Given the description of an element on the screen output the (x, y) to click on. 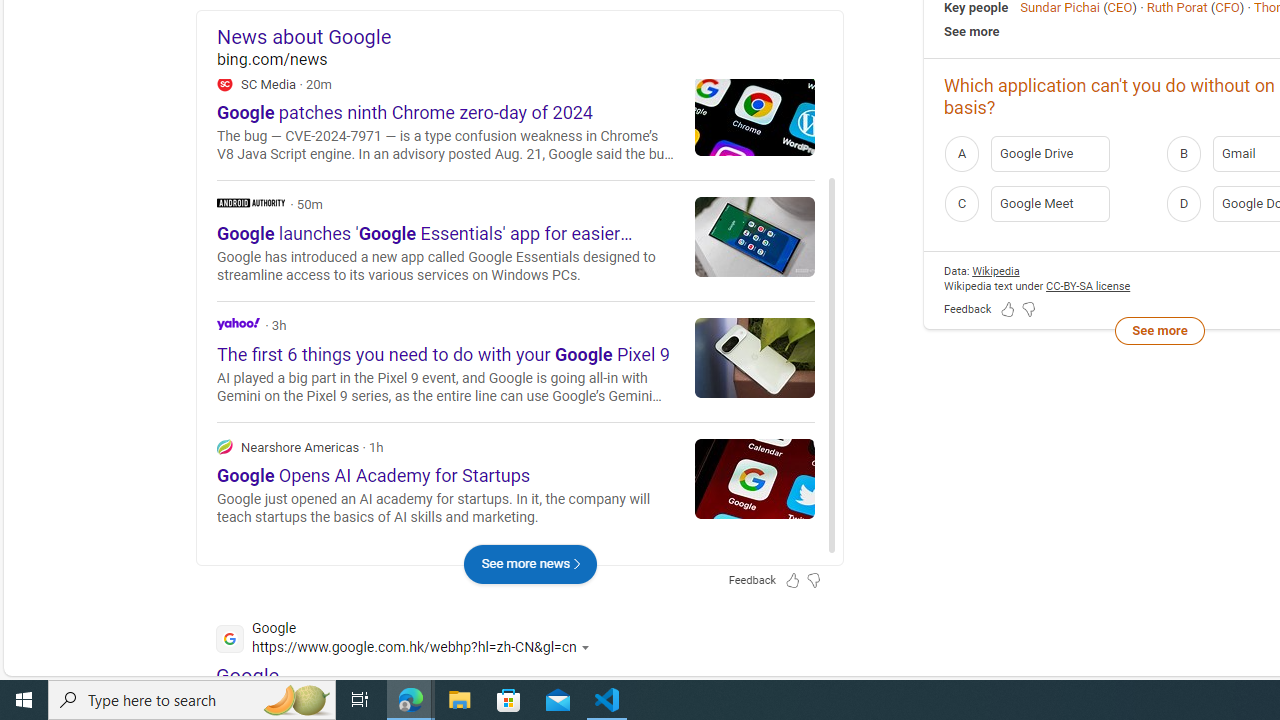
News about Google (530, 36)
See more news (530, 563)
C Google Meet (1049, 203)
Feedback Like (1007, 309)
SC Media (224, 83)
Feedback Dislike (1028, 309)
Nearshore Americas (516, 481)
A Google Drive (1049, 152)
bing.com/news (530, 59)
Android Authority (251, 201)
